Given the description of an element on the screen output the (x, y) to click on. 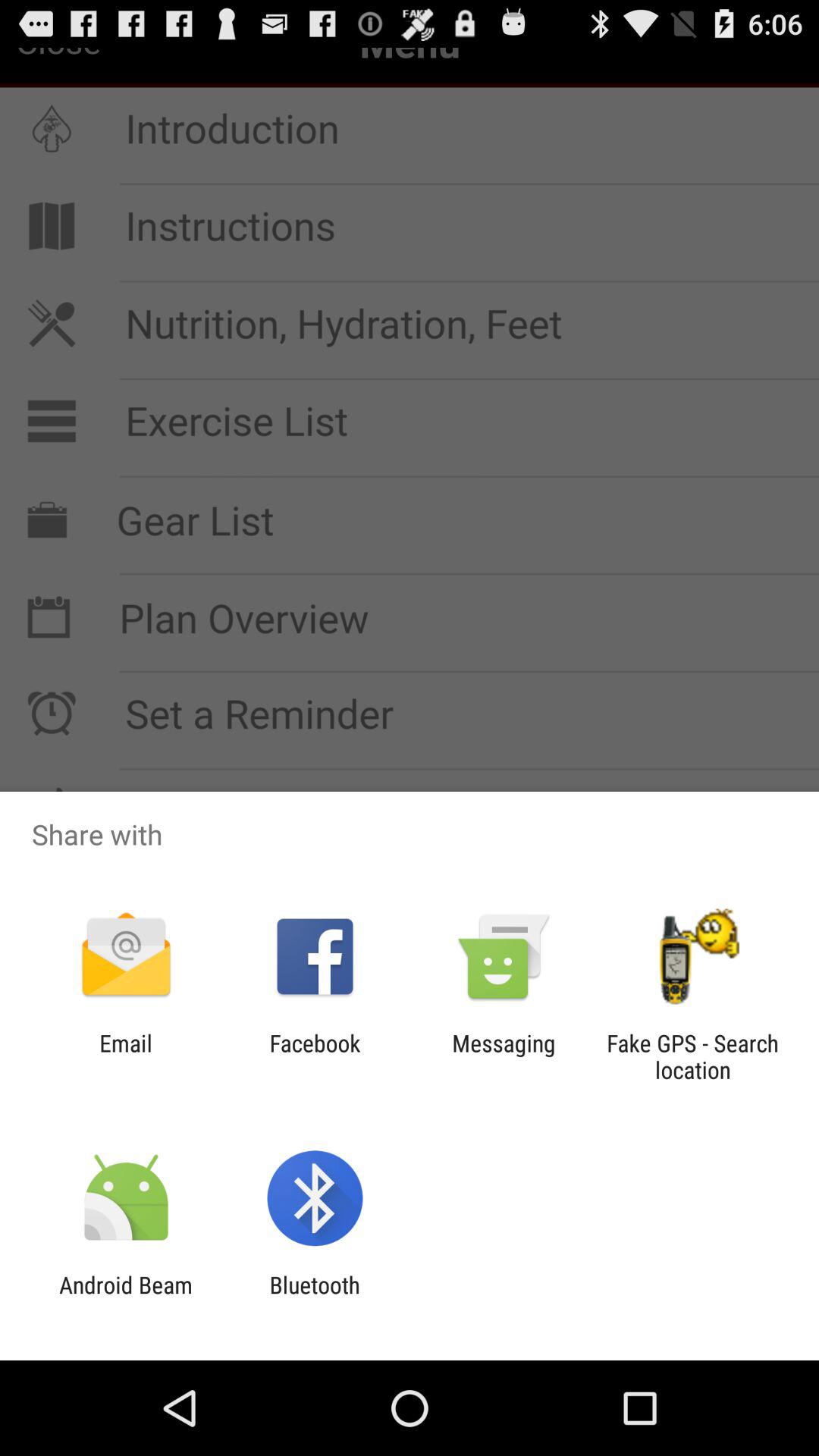
turn off icon next to bluetooth app (125, 1298)
